Given the description of an element on the screen output the (x, y) to click on. 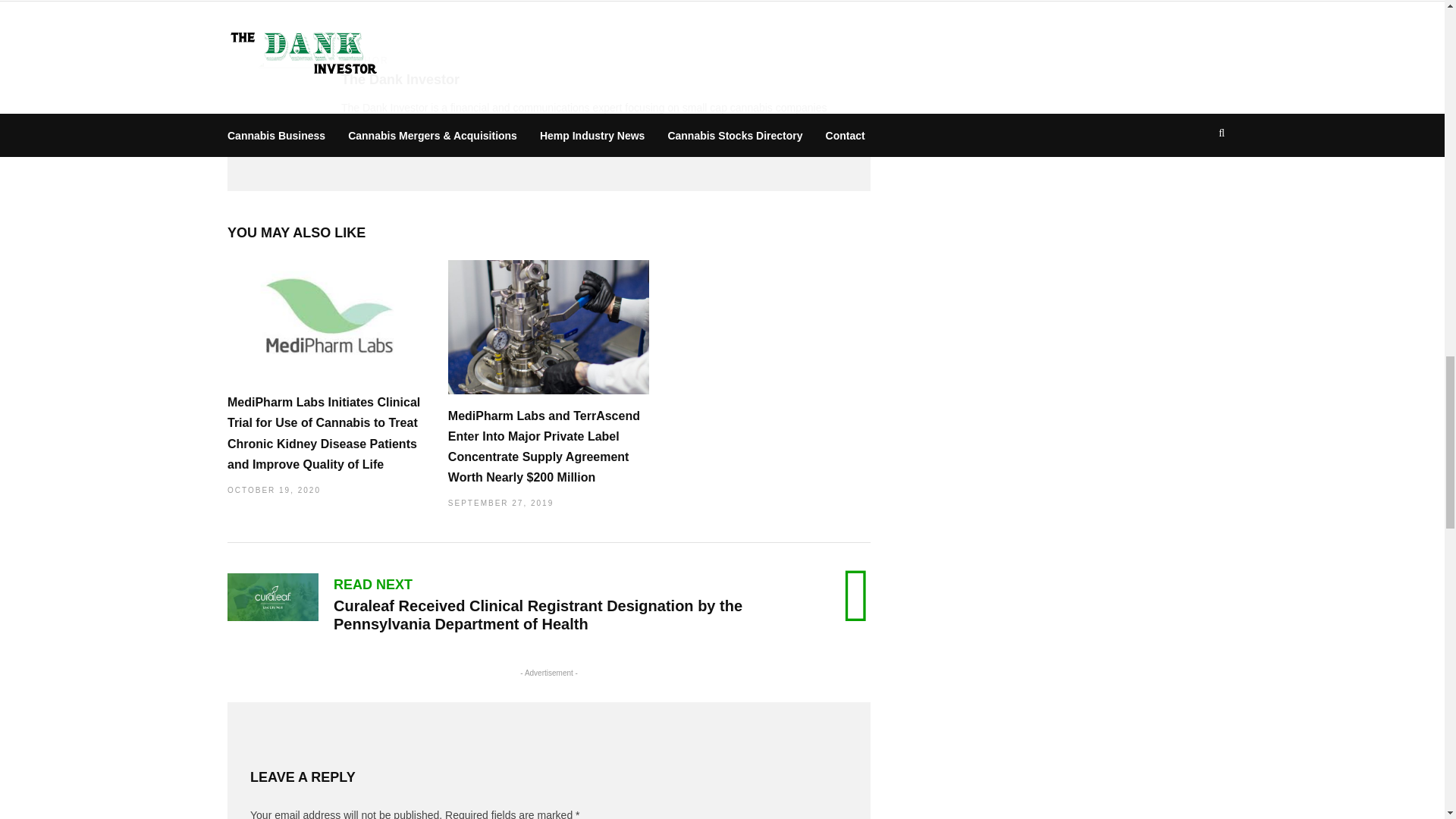
READ NEXT (372, 584)
